Given the description of an element on the screen output the (x, y) to click on. 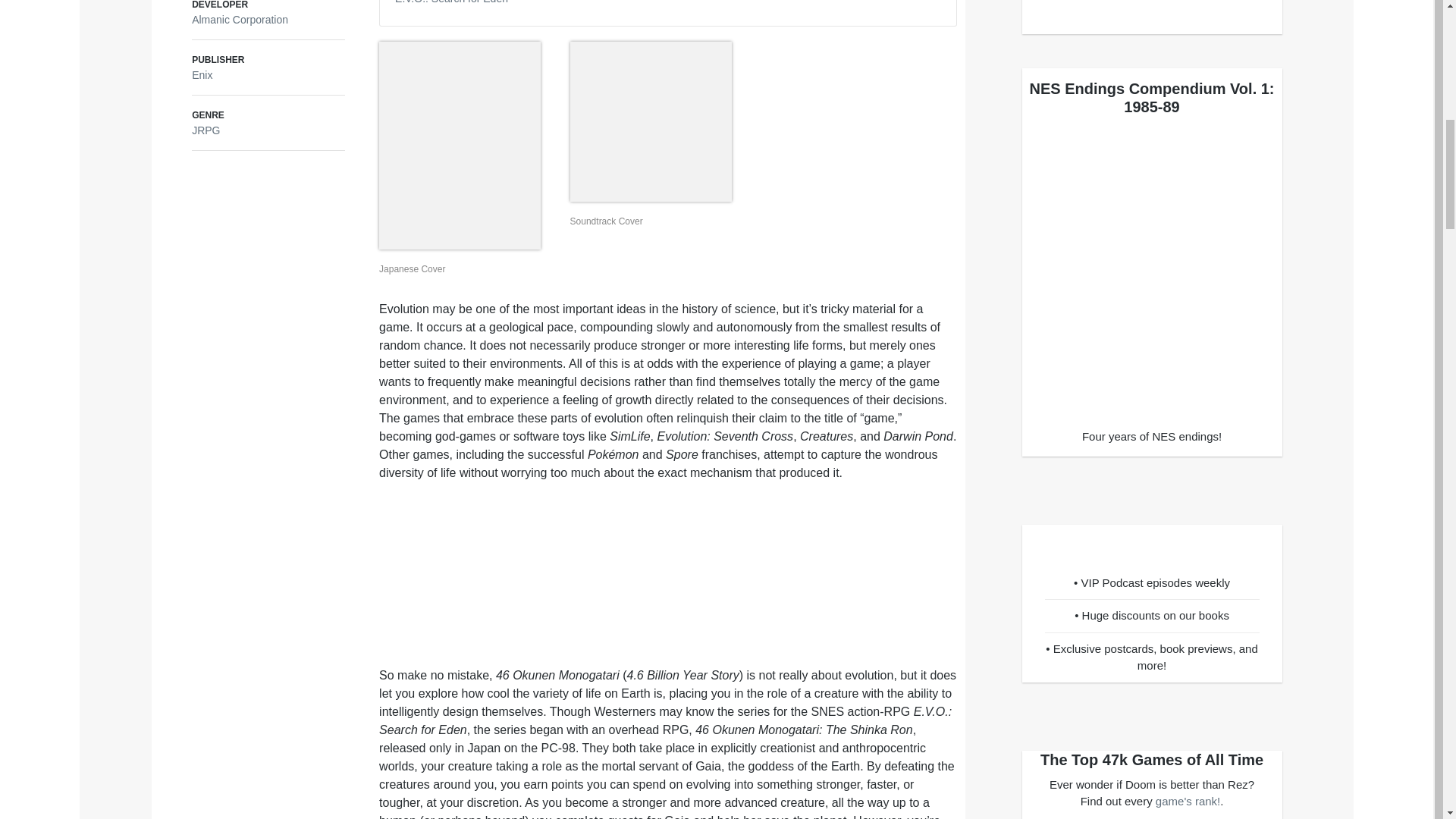
E.V.O.: Search for Eden (451, 2)
E.V.O.: Search for Eden (451, 2)
